Given the description of an element on the screen output the (x, y) to click on. 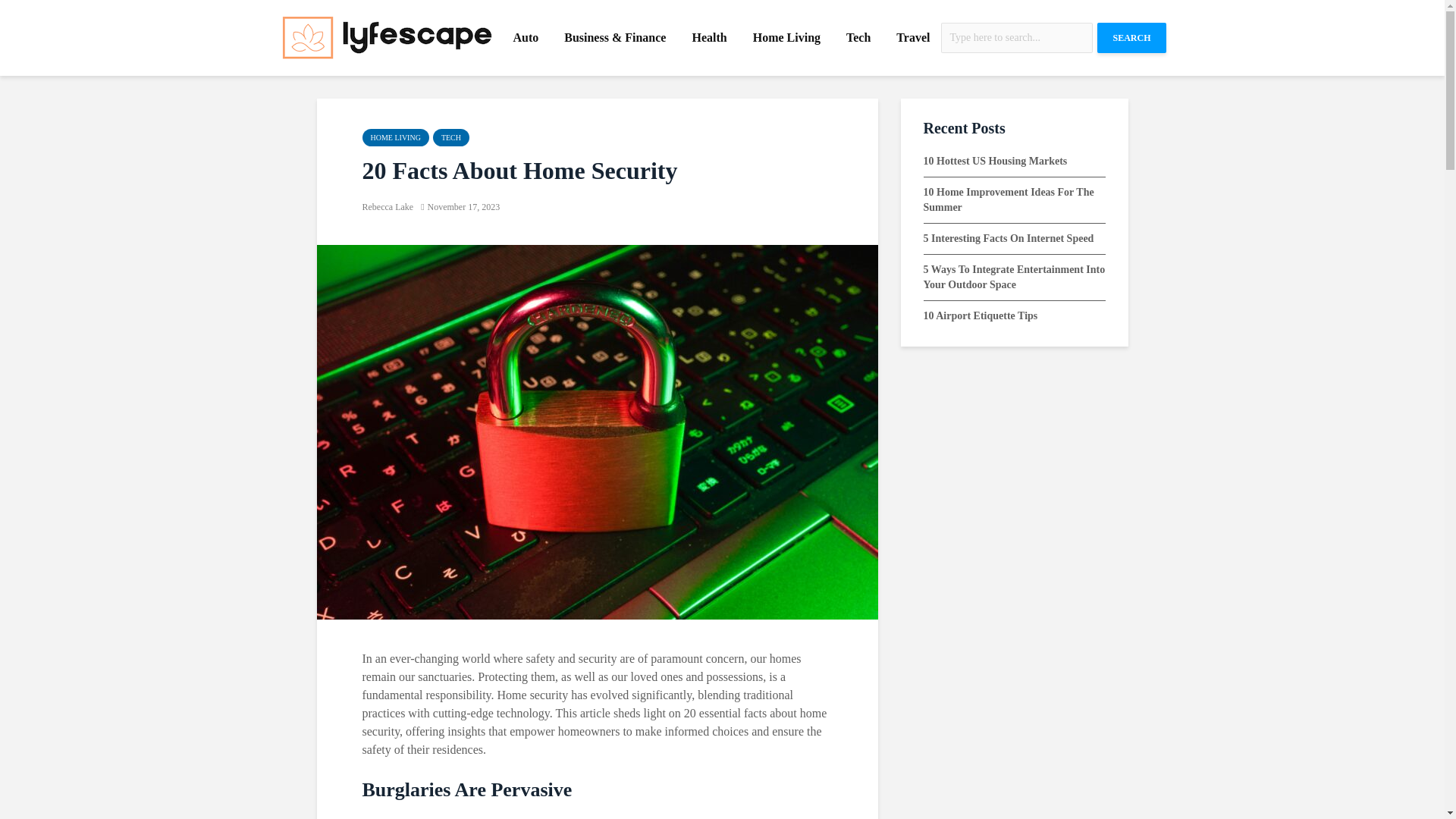
TECH (450, 137)
5 Ways To Integrate Entertainment Into Your Outdoor Space (1014, 276)
SEARCH (1131, 37)
10 Airport Etiquette Tips (980, 315)
Home Living (786, 37)
HOME LIVING (395, 137)
5 Interesting Facts On Internet Speed (1008, 238)
Auto (525, 37)
Health (708, 37)
Rebecca Lake (387, 206)
Tech (858, 37)
Travel (912, 37)
10 Hottest US Housing Markets (995, 161)
10 Home Improvement Ideas For The Summer (1008, 199)
